Given the description of an element on the screen output the (x, y) to click on. 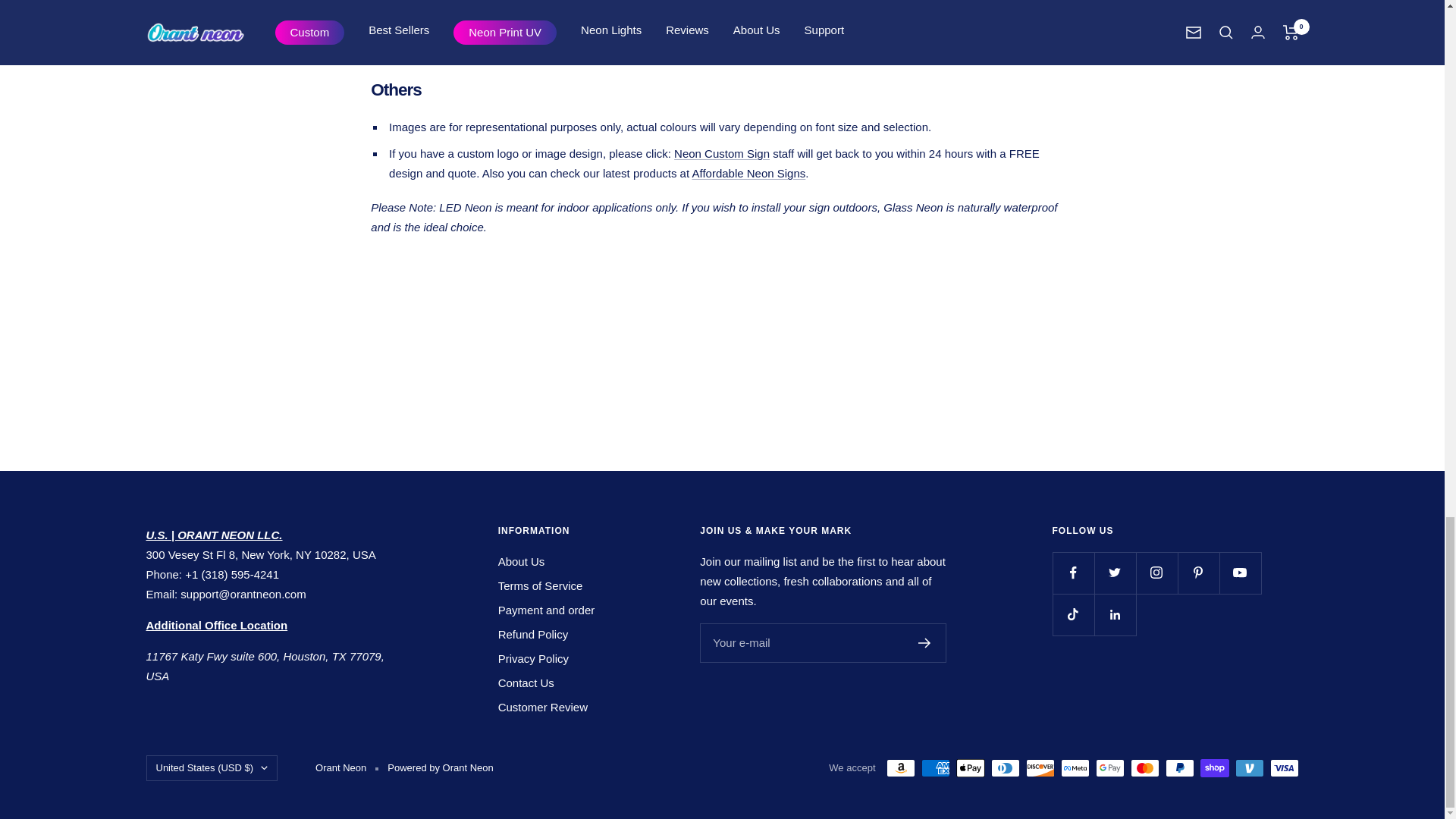
Register (924, 643)
